Given the description of an element on the screen output the (x, y) to click on. 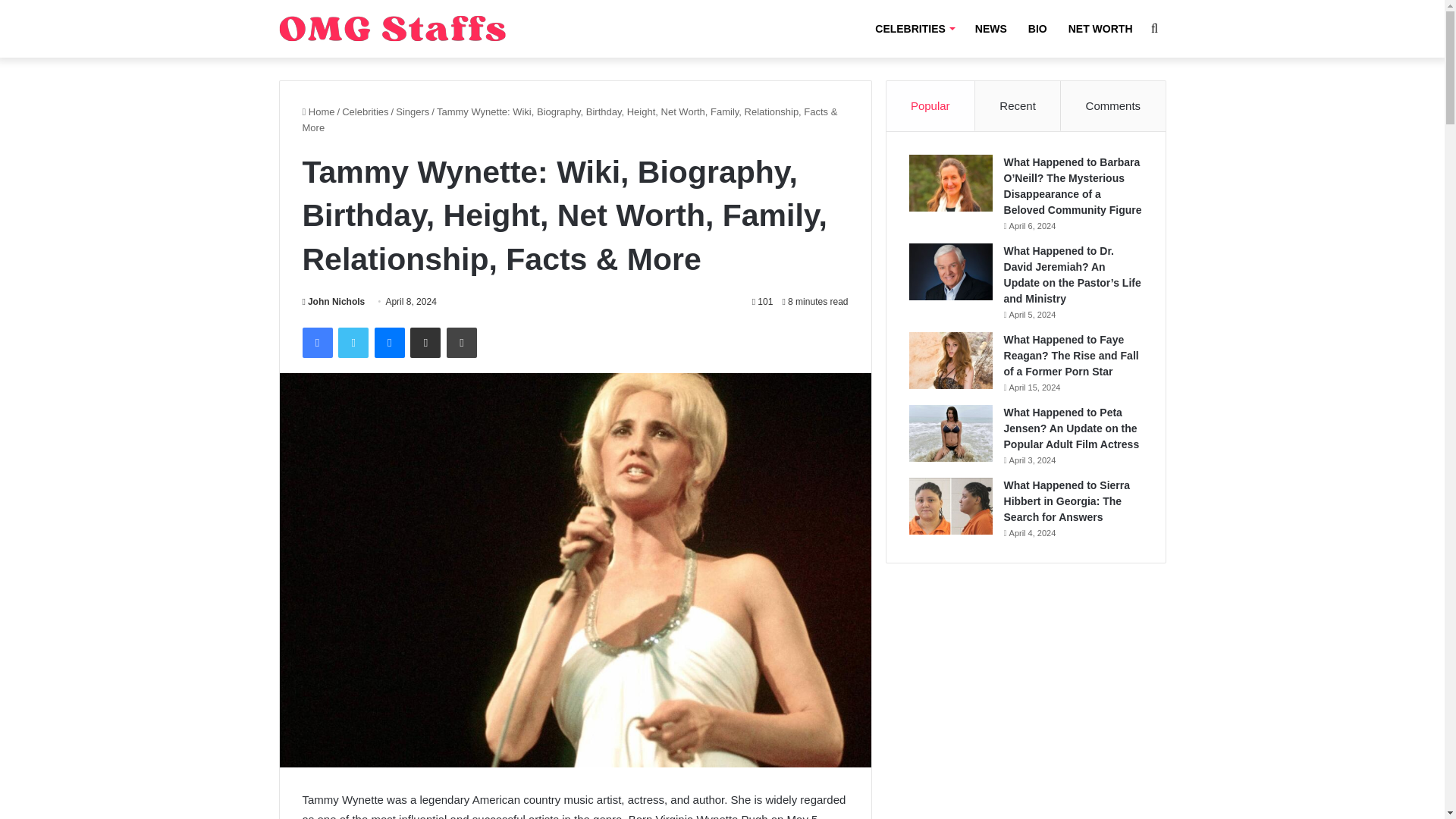
CELEBRITIES (913, 28)
Facebook (316, 342)
Messenger (389, 342)
Print (461, 342)
Messenger (389, 342)
Print (461, 342)
Share via Email (425, 342)
Share via Email (425, 342)
NEWS (990, 28)
John Nichols (333, 301)
